Given the description of an element on the screen output the (x, y) to click on. 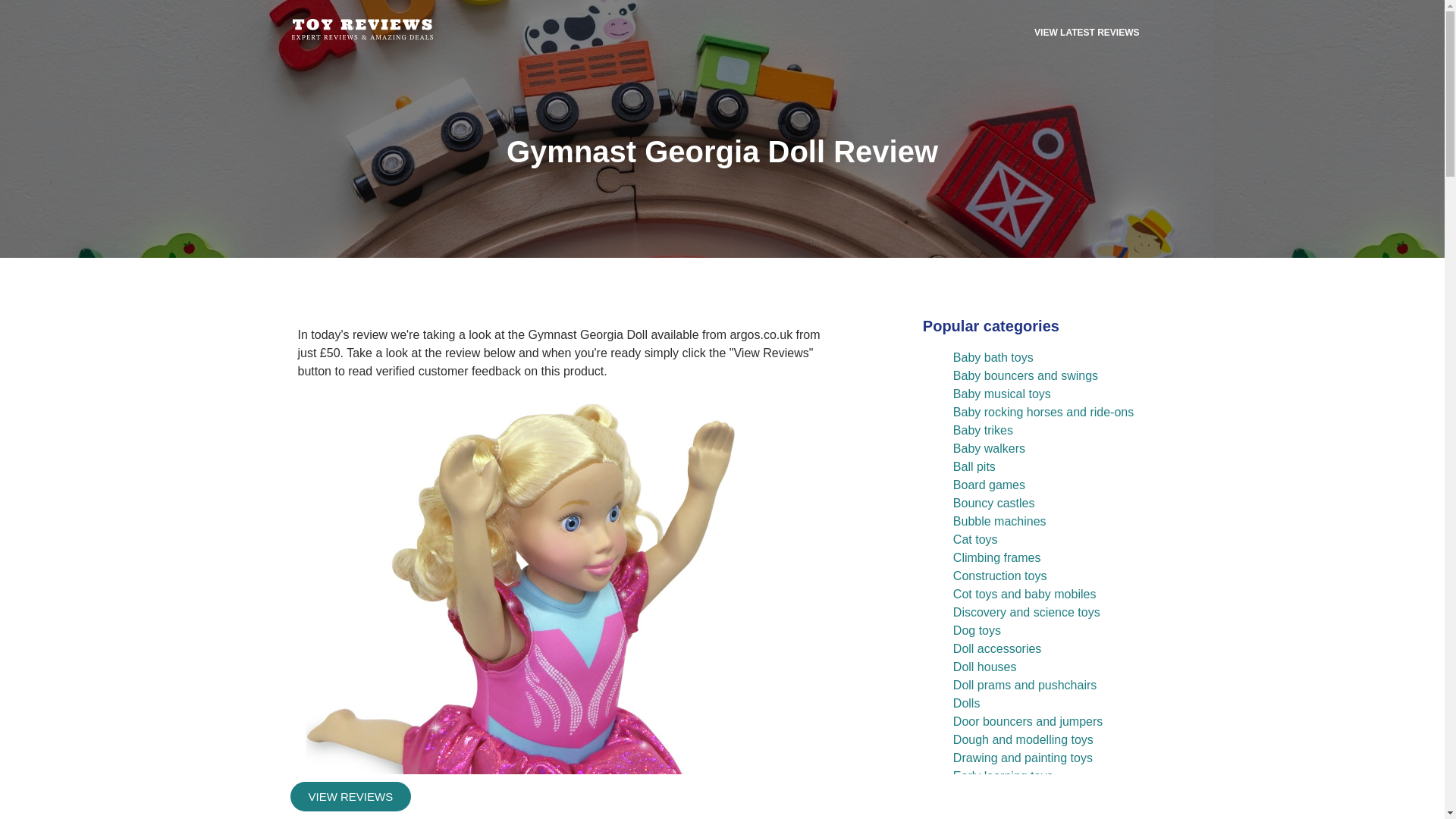
Baby musical toys (1002, 393)
Baby walkers (989, 448)
VIEW LATEST REVIEWS (1086, 32)
Ball pits (974, 466)
Baby trikes (983, 430)
Board games (989, 484)
Baby bouncers and swings (1025, 375)
Baby rocking horses and ride-ons (1043, 411)
Baby bath toys (993, 357)
